Given the description of an element on the screen output the (x, y) to click on. 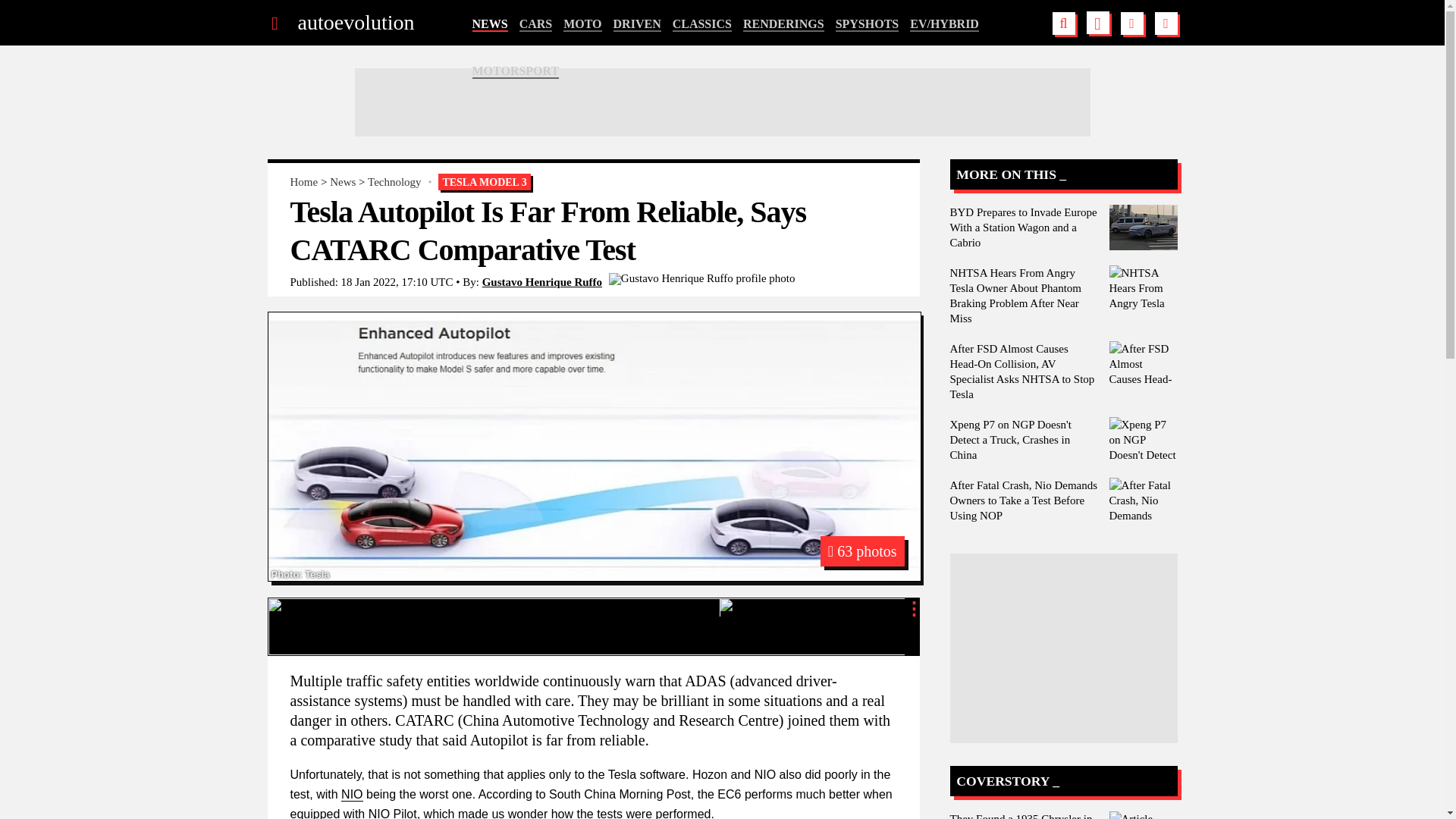
DRIVEN (636, 24)
Home (303, 182)
CLASSICS (702, 24)
MOTO (582, 24)
autoevolution (355, 22)
RENDERINGS (783, 24)
NEWS (488, 24)
Technology (395, 182)
SPYSHOTS (867, 24)
autoevolution (355, 22)
MOTORSPORT (515, 71)
CARS (536, 24)
News (342, 182)
